Given the description of an element on the screen output the (x, y) to click on. 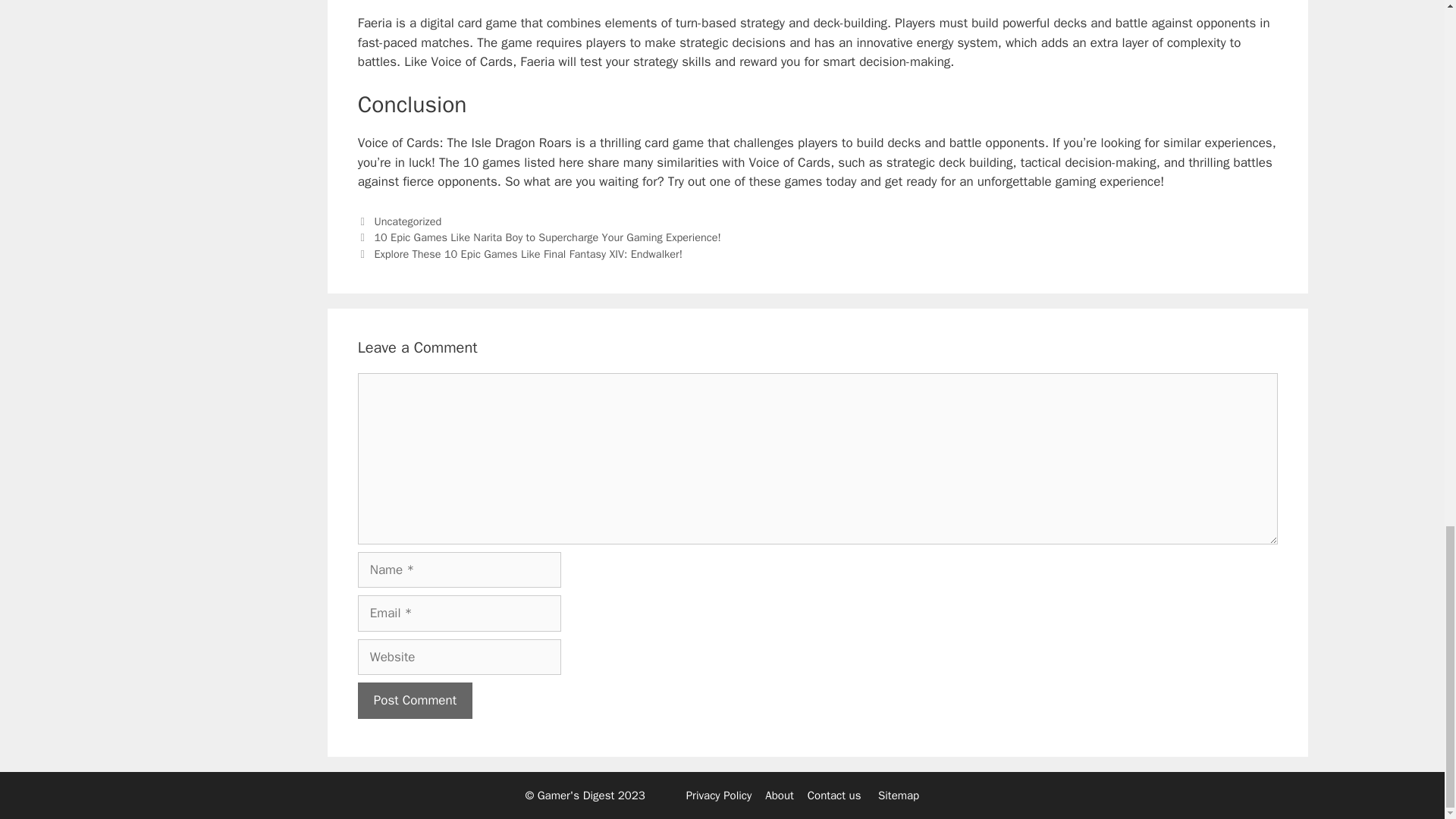
Contact us (834, 795)
Sitemap (897, 795)
Post Comment (414, 700)
Uncategorized (407, 221)
Next (520, 254)
About (779, 795)
Post Comment (414, 700)
Privacy Policy (718, 795)
